Given the description of an element on the screen output the (x, y) to click on. 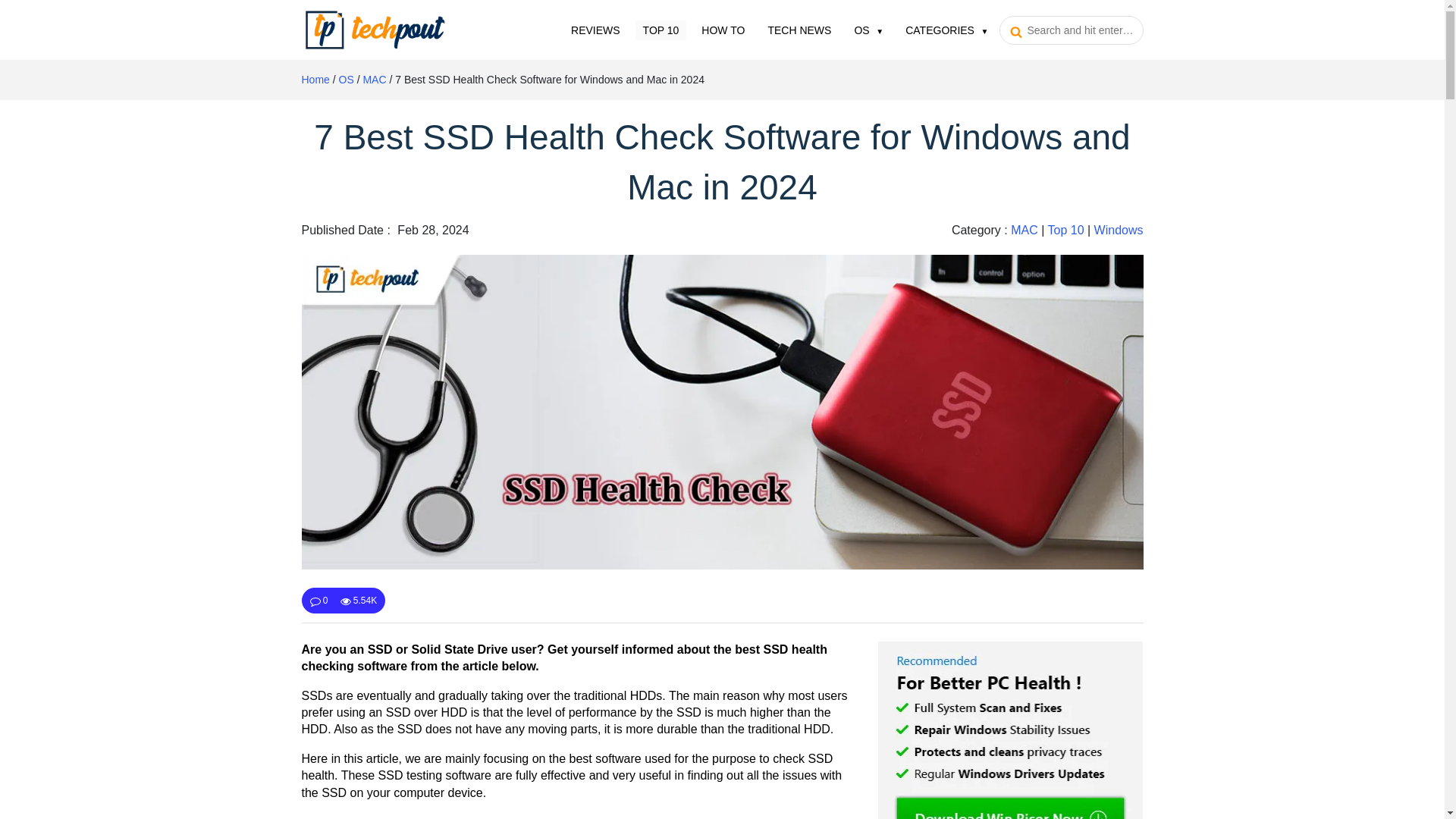
MAC (373, 79)
OS (867, 29)
Windows (1118, 229)
Search for: (1070, 29)
TECH NEWS (799, 29)
CATEGORIES (946, 29)
More Categories (946, 29)
OS (346, 79)
HOW TO (723, 29)
How To (723, 29)
MAC (1024, 229)
TOP 10 (660, 29)
Reviews (595, 29)
OS (867, 29)
Top 10 (660, 29)
